Given the description of an element on the screen output the (x, y) to click on. 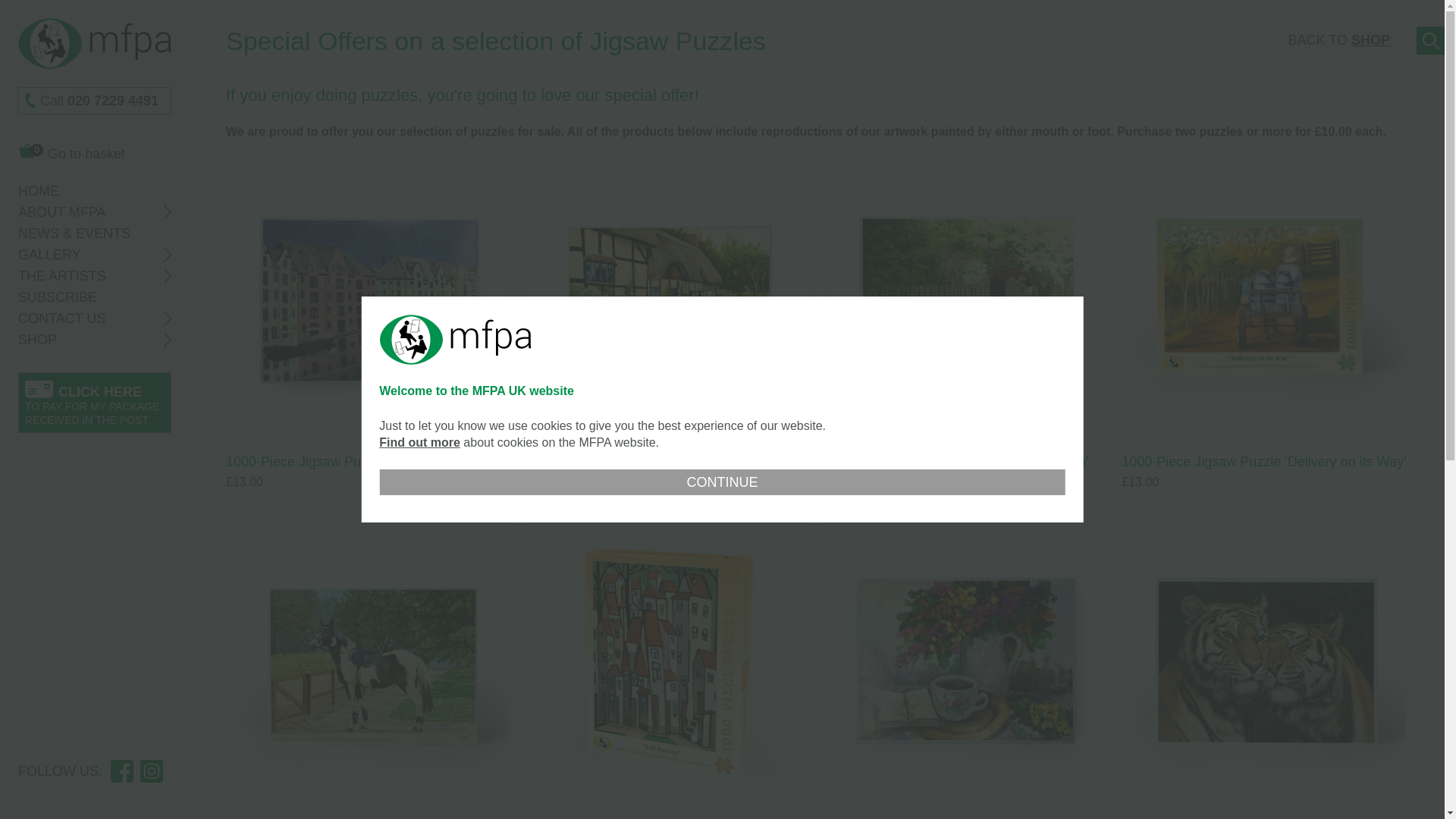
News (103, 233)
Call 020 7229 4491 (94, 100)
ABOUT MFPA (93, 151)
HOME (103, 211)
Call 020 7229 4491 (103, 190)
THE ARTISTS (94, 100)
About MFPA (103, 275)
Home (103, 211)
Basket (103, 190)
GALLERY (93, 151)
Home (103, 254)
